Given the description of an element on the screen output the (x, y) to click on. 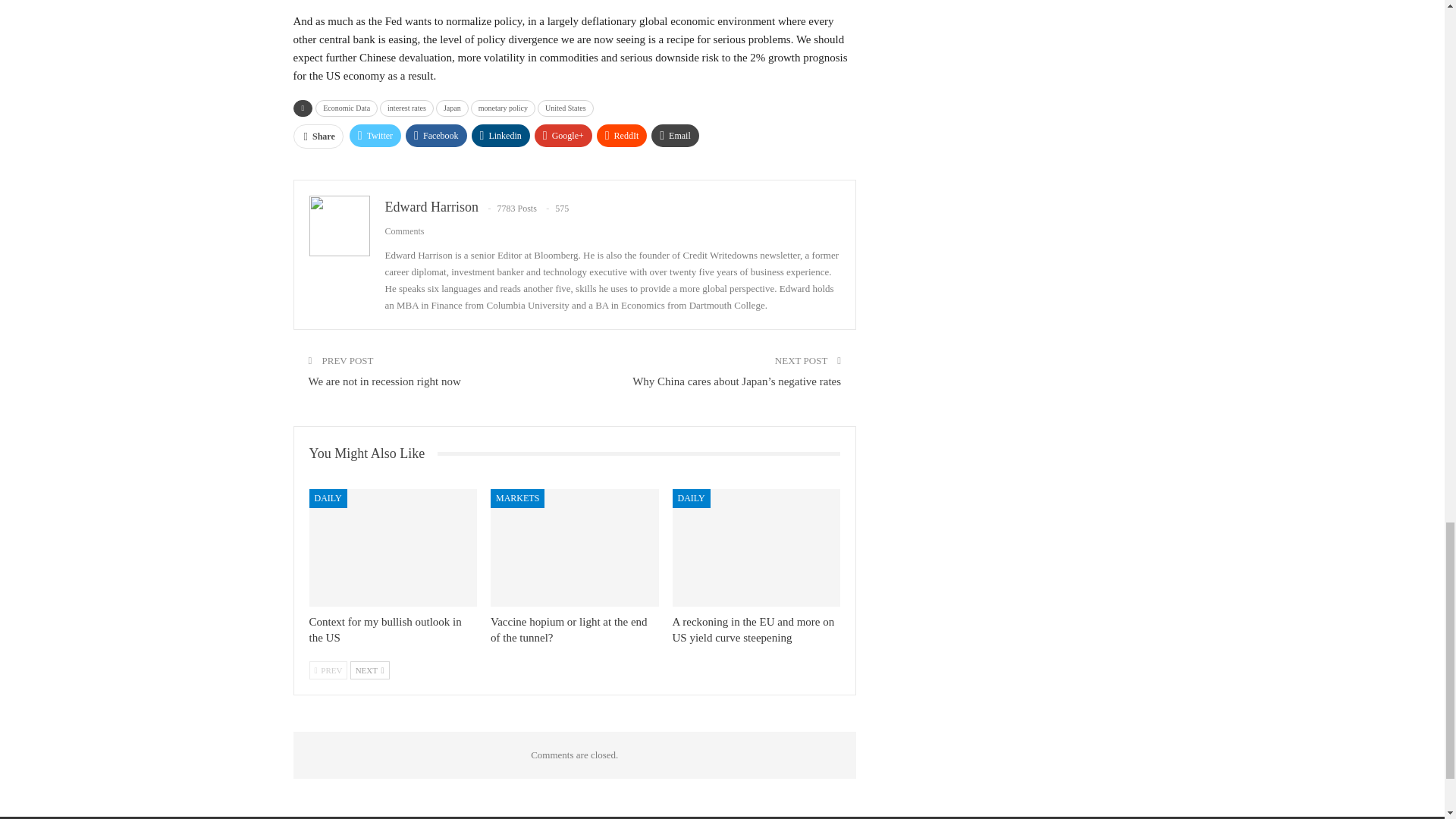
Vaccine hopium or light at the end of the tunnel? (568, 629)
Context for my bullish outlook in the US (384, 629)
Context for my bullish outlook in the US (392, 547)
Vaccine hopium or light at the end of the tunnel? (574, 547)
Next (370, 669)
A reckoning in the EU and more on US yield curve steepening (756, 547)
Previous (327, 669)
A reckoning in the EU and more on US yield curve steepening (753, 629)
